Given the description of an element on the screen output the (x, y) to click on. 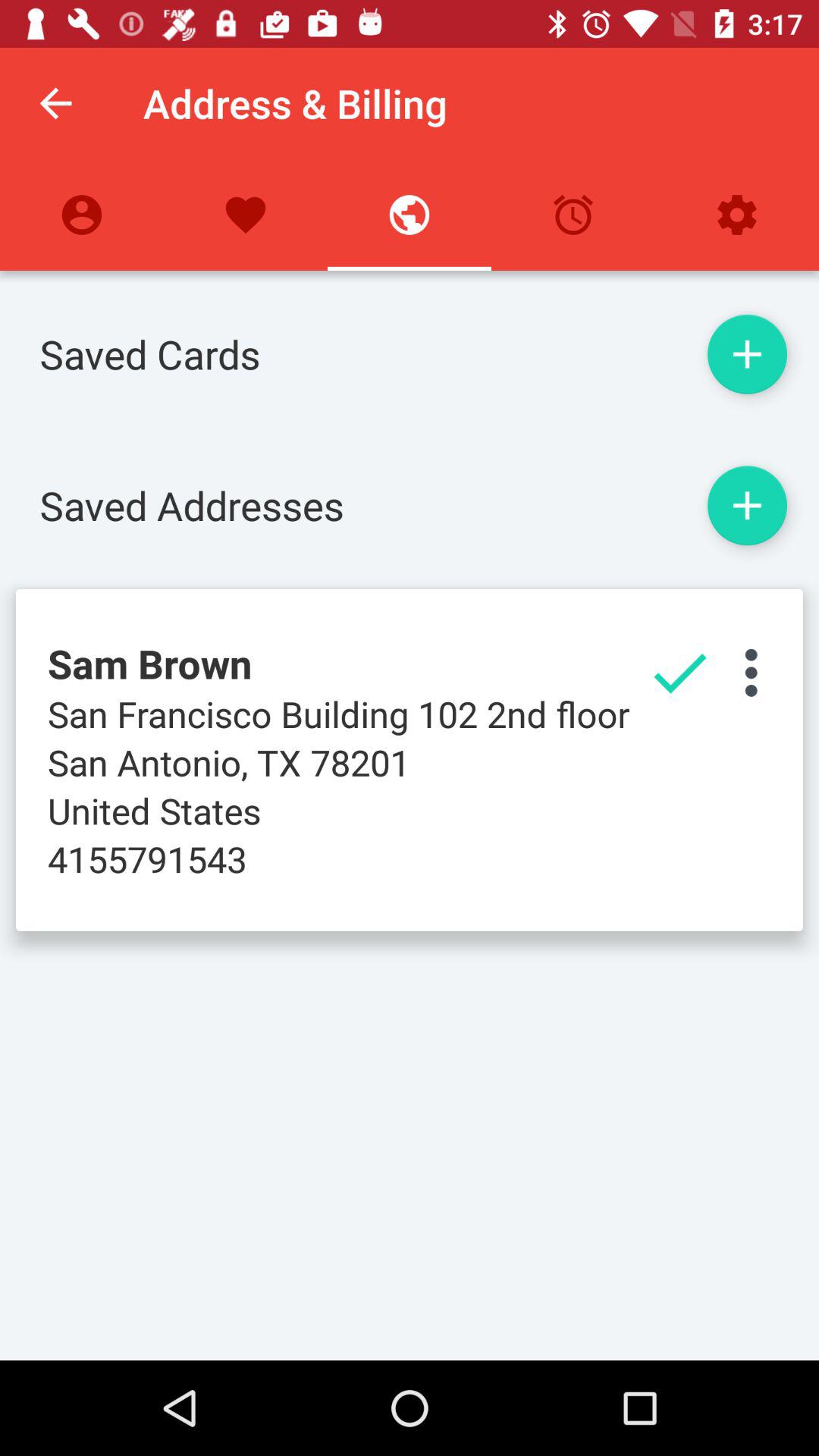
press icon to the left of address & billing item (55, 103)
